Given the description of an element on the screen output the (x, y) to click on. 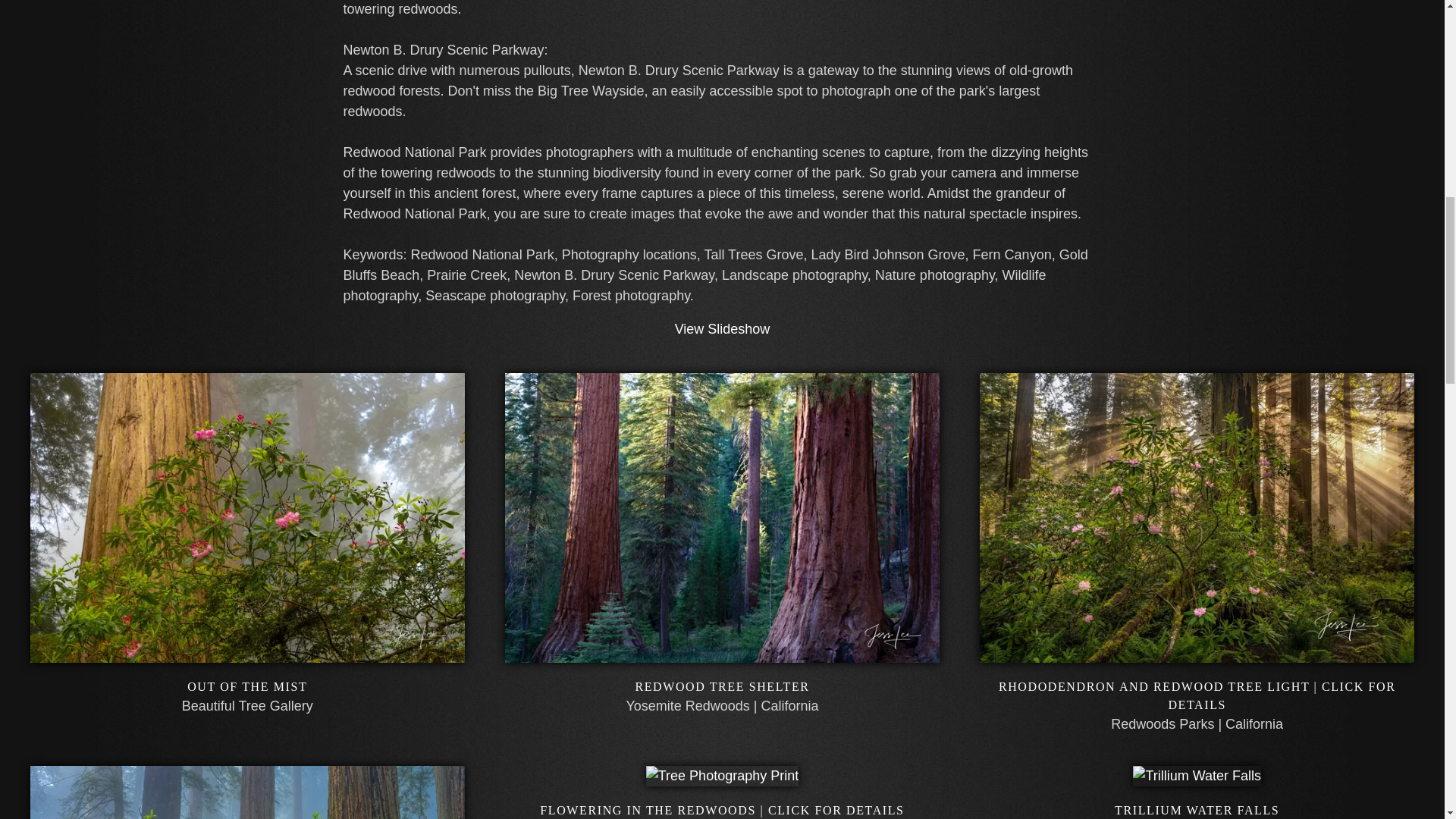
TRILLIUM WATER FALLS (1197, 809)
Out of the mist (247, 652)
Trillium Water Falls (1197, 809)
Trillium Water Falls (1196, 775)
Out of the mist (247, 686)
View Slideshow (722, 328)
OUT OF THE MIST (247, 686)
Redwood Tree Shelter (722, 652)
Redwood Tree Shelter (721, 686)
REDWOOD TREE SHELTER (721, 686)
